Given the description of an element on the screen output the (x, y) to click on. 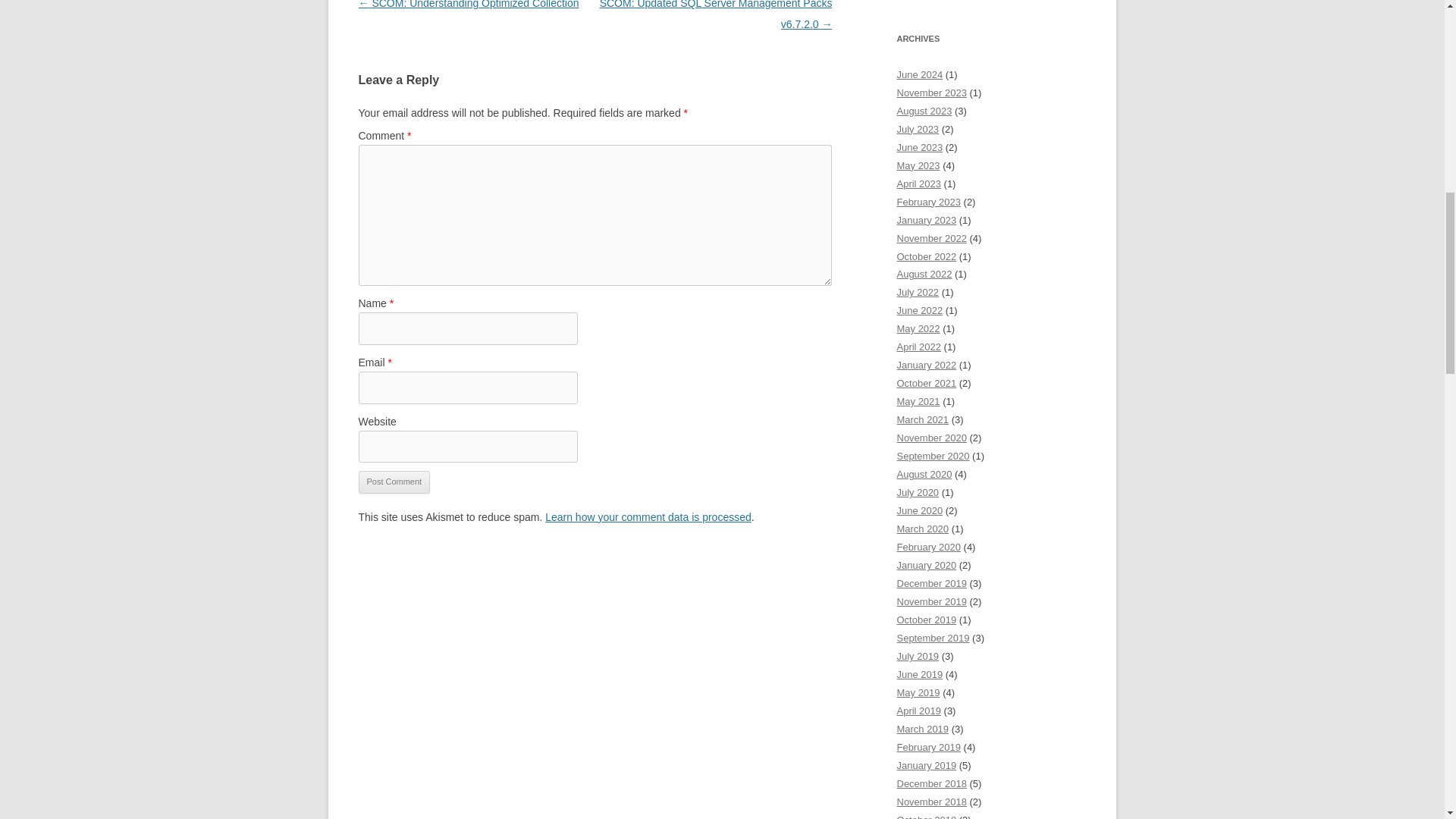
Post Comment (393, 481)
November 2023 (931, 92)
May 2023 (917, 165)
August 2023 (924, 111)
July 2023 (917, 129)
June 2024 (919, 74)
Learn how your comment data is processed (647, 517)
April 2023 (918, 183)
June 2023 (919, 147)
Post Comment (393, 481)
